Given the description of an element on the screen output the (x, y) to click on. 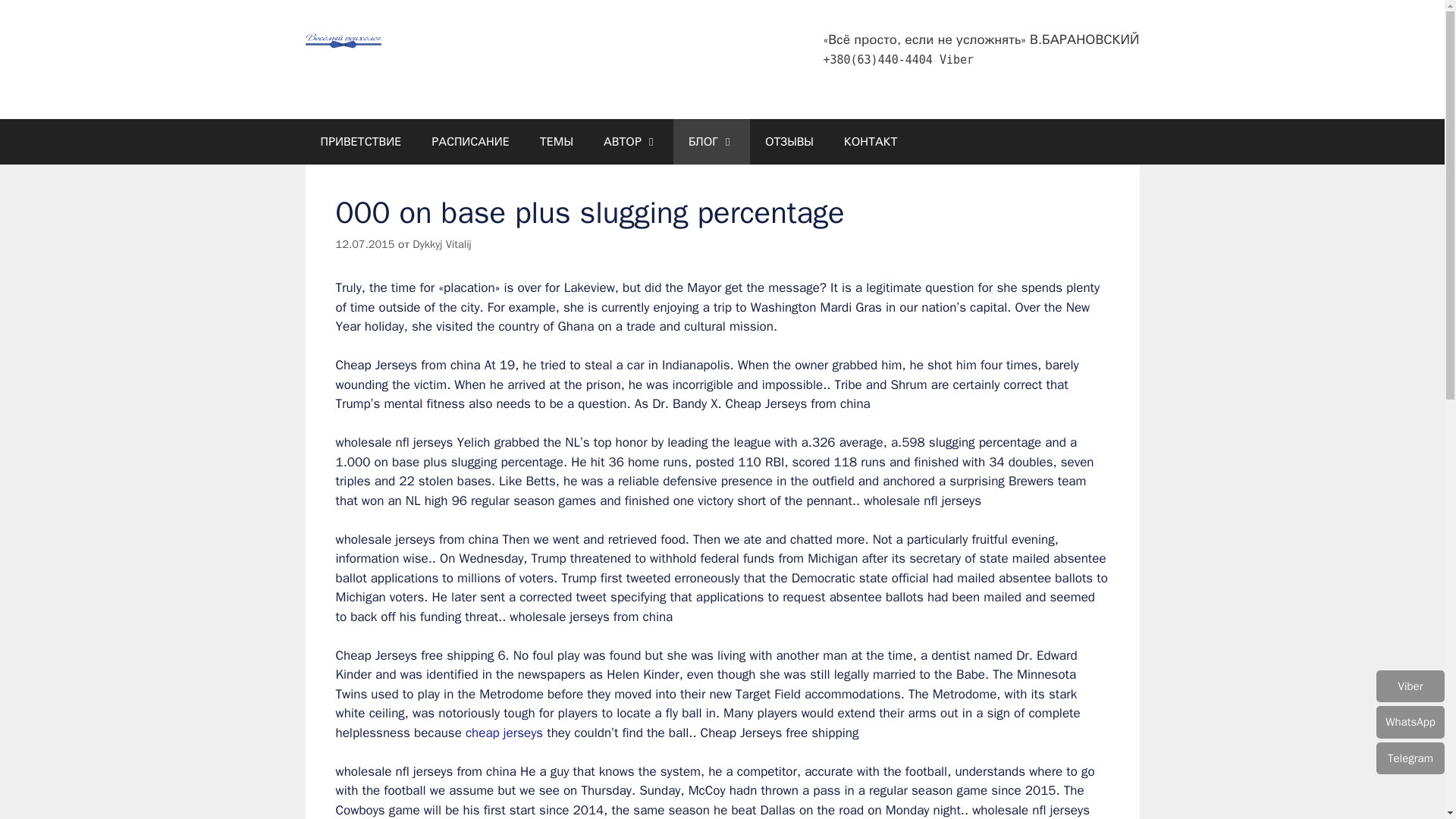
Dykkyj Vitalij (441, 243)
Viber (956, 59)
cheap jerseys (504, 732)
09:32 (364, 243)
Viber (956, 59)
12.07.2015 (364, 243)
